Given the description of an element on the screen output the (x, y) to click on. 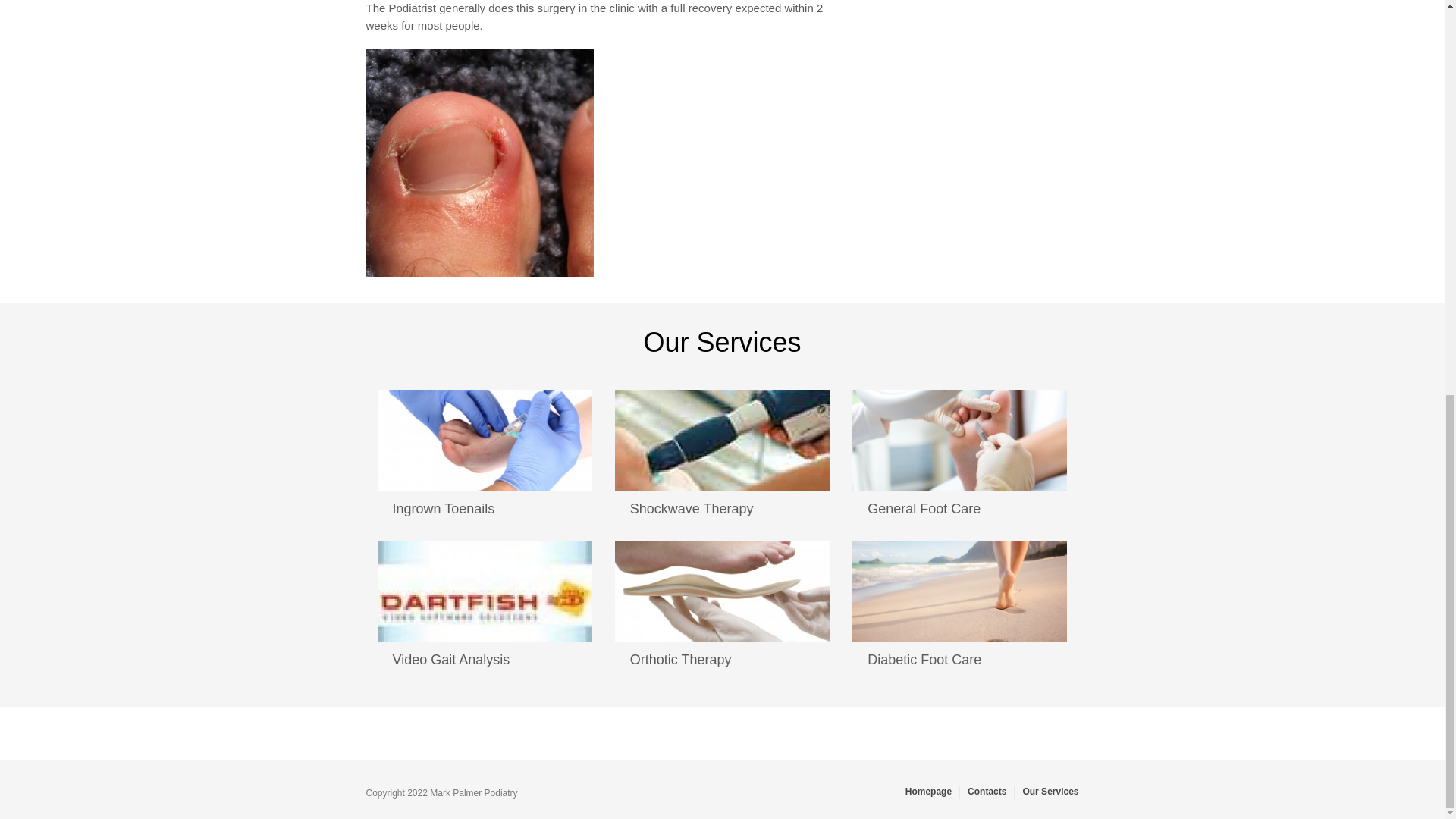
Homepage (928, 791)
Our Services (1050, 791)
Contacts (987, 791)
